Given the description of an element on the screen output the (x, y) to click on. 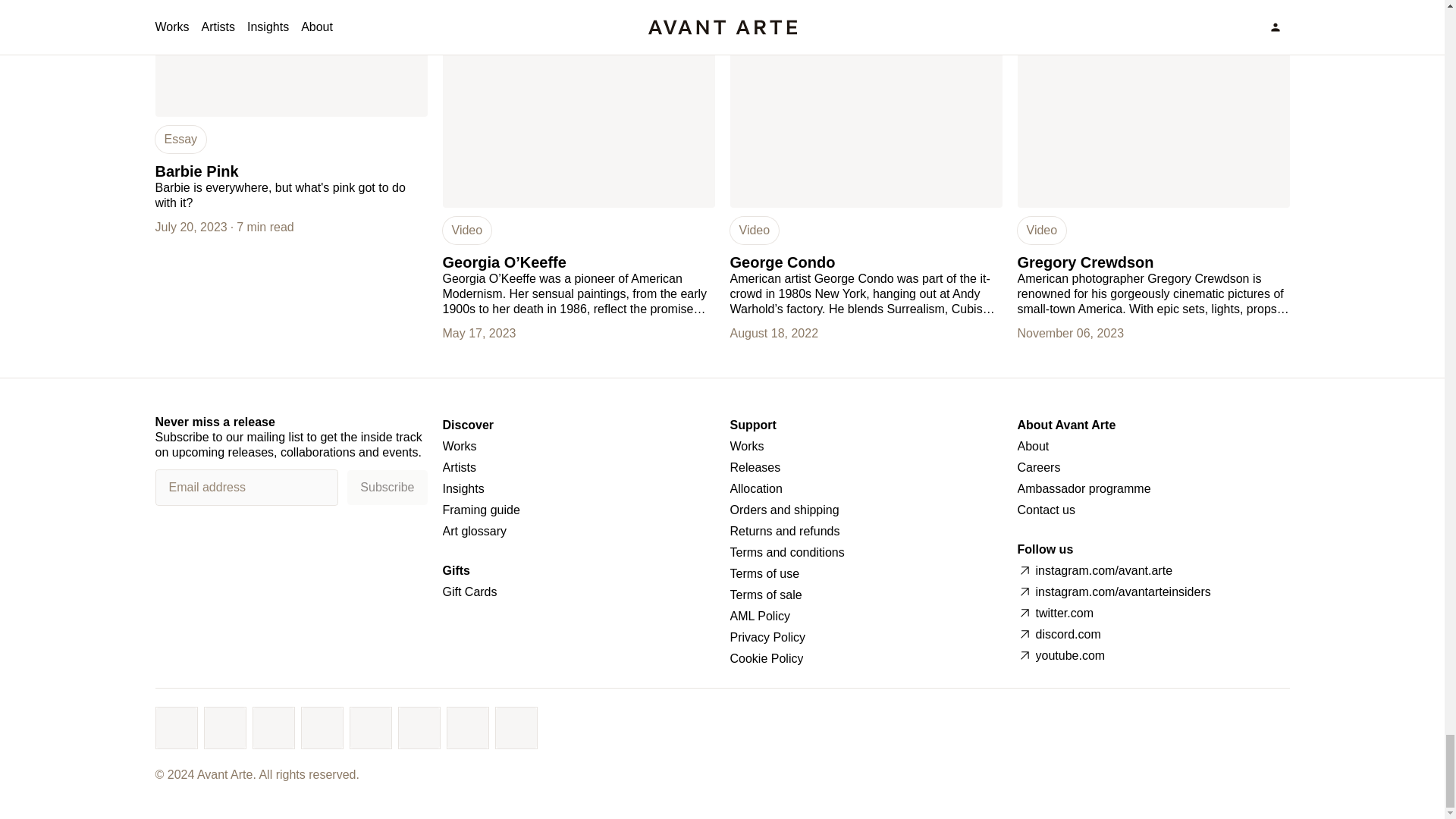
americanExpress (273, 727)
Black and white photo of Georgia O'Keefe (578, 104)
masterCard (225, 727)
payPal (321, 727)
George Condo standing in front of a mural (865, 104)
Gregory Crewdson photographed in the street  (1153, 104)
Avant Essay, Barbie Pink (290, 58)
visa (175, 727)
